Given the description of an element on the screen output the (x, y) to click on. 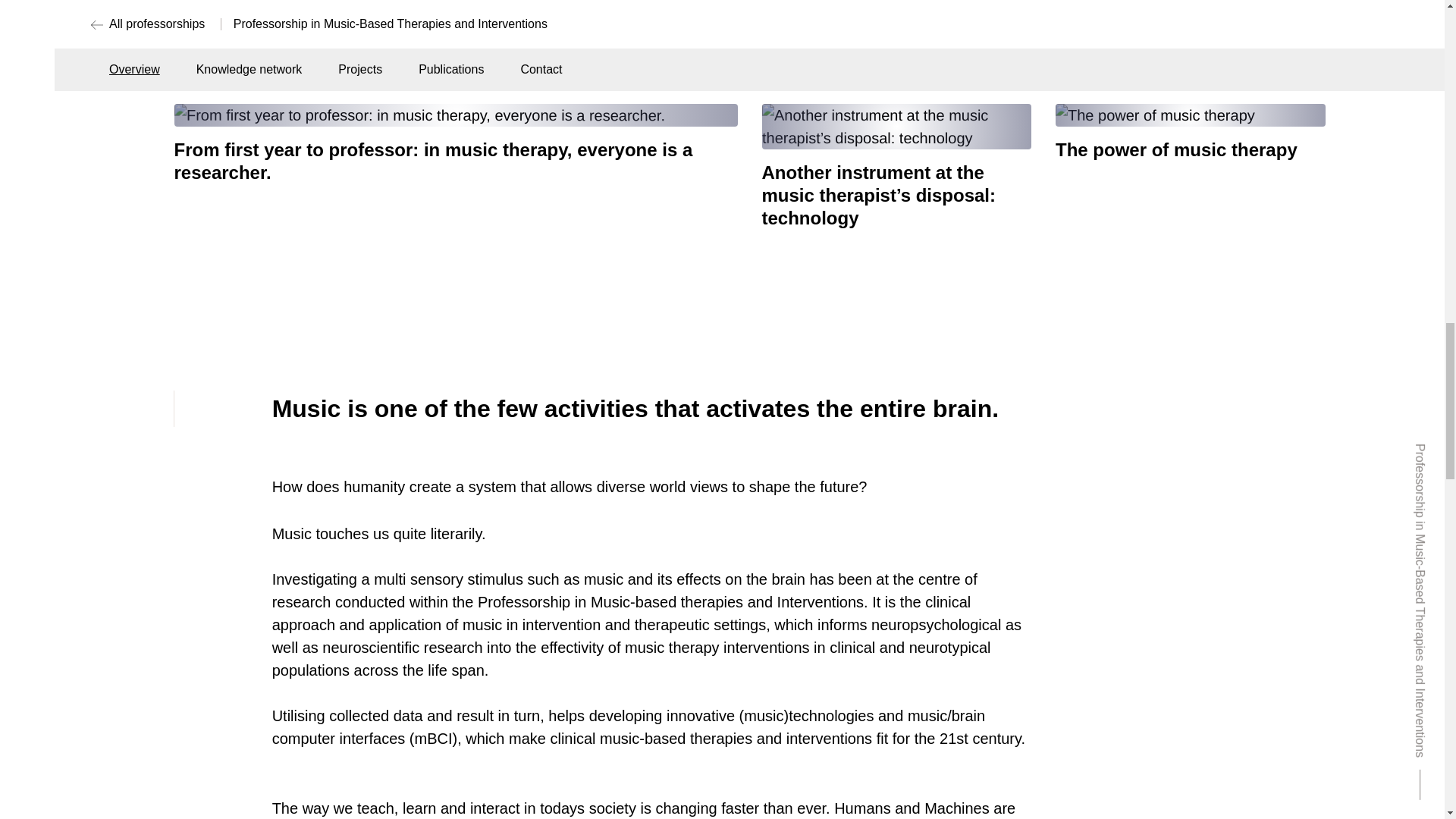
More stories (1272, 60)
The power of music therapy (1189, 132)
